Given the description of an element on the screen output the (x, y) to click on. 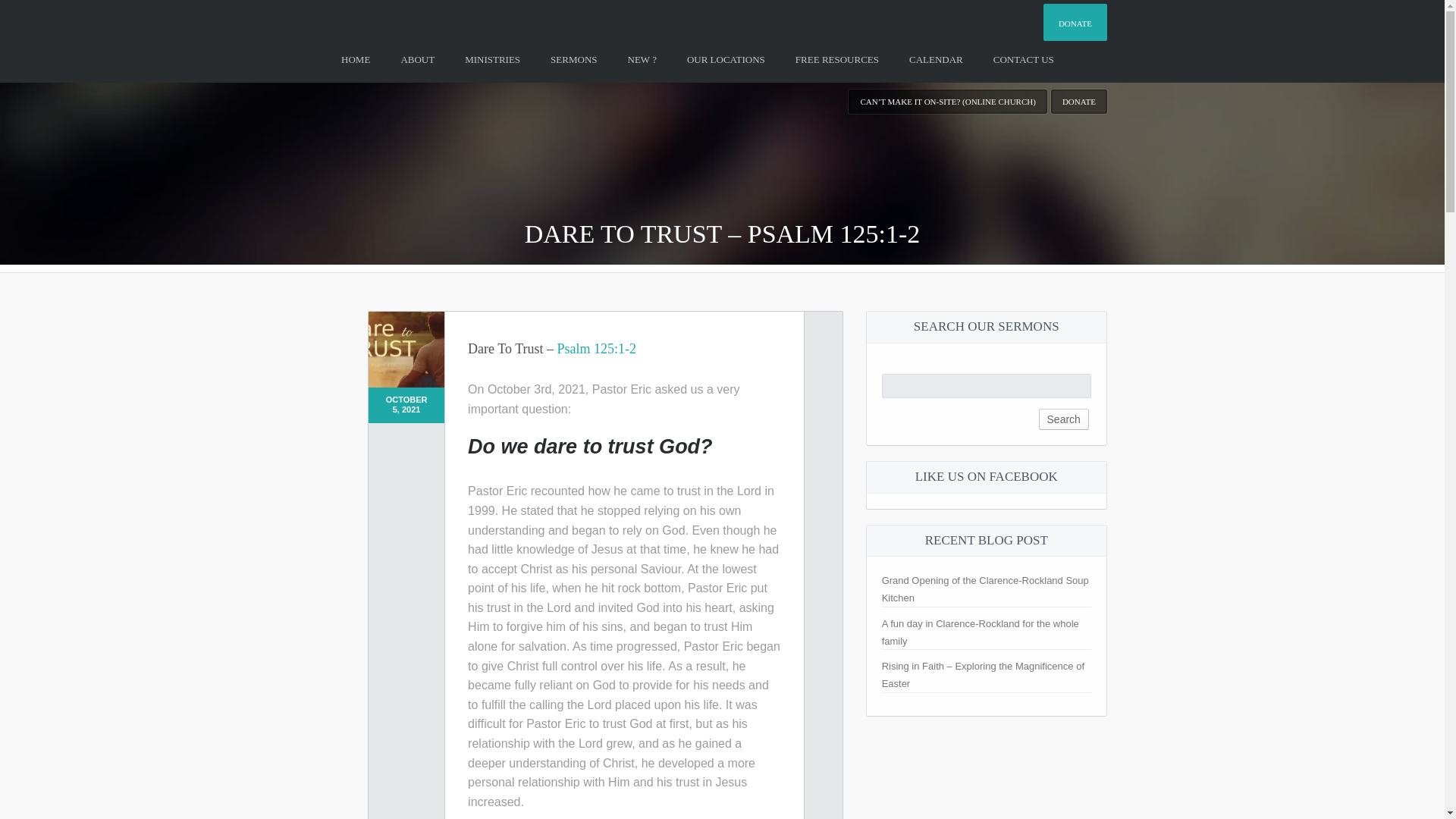
ABOUT (417, 59)
Search (1064, 418)
DONATE (1074, 22)
Dare To Trust - Psalm 125:1-2 1 (406, 349)
HOME (355, 59)
